Given the description of an element on the screen output the (x, y) to click on. 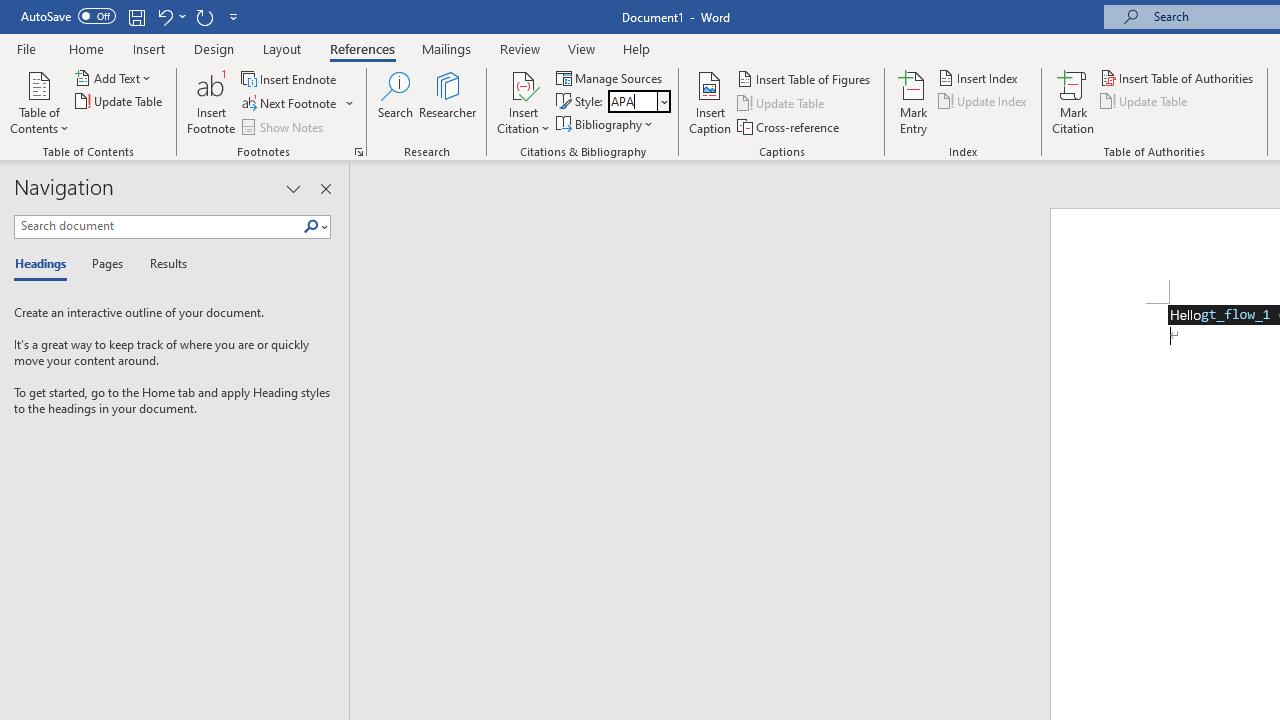
Search (396, 102)
Mailings (447, 48)
Design (214, 48)
Task Pane Options (293, 188)
Quick Access Toolbar (131, 16)
View (582, 48)
Insert Caption... (710, 102)
Mark Citation... (1072, 102)
Save (136, 15)
Style (639, 101)
Undo Underline Style (164, 15)
Insert Endnote (290, 78)
AutoSave (68, 16)
Pages (105, 264)
Show Notes (284, 126)
